Given the description of an element on the screen output the (x, y) to click on. 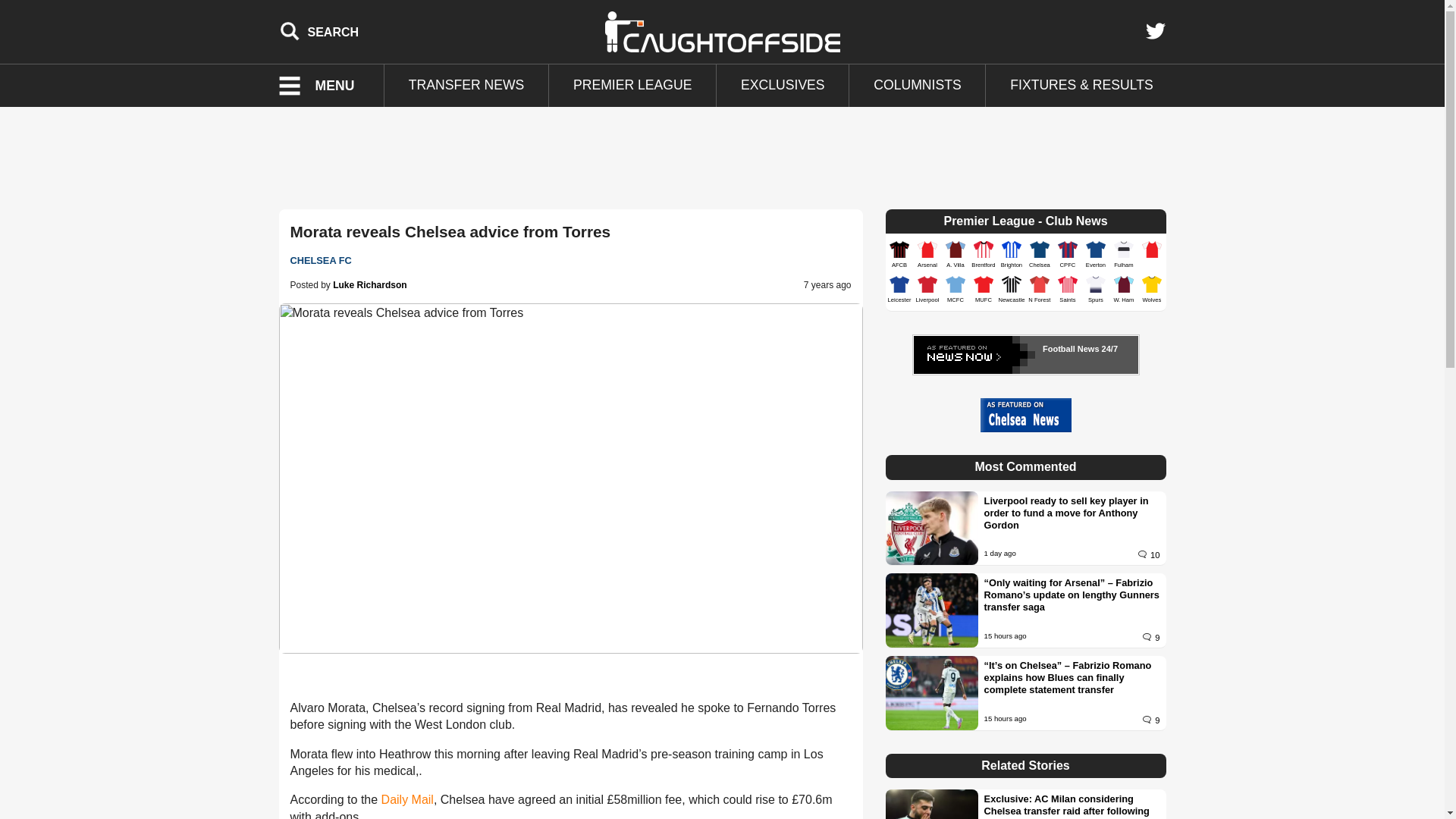
EXCLUSIVES (782, 85)
PREMIER LEAGUE (632, 85)
Twitter (1155, 30)
Menu (325, 85)
TRANSFER NEWS (466, 85)
Search (319, 30)
